Given the description of an element on the screen output the (x, y) to click on. 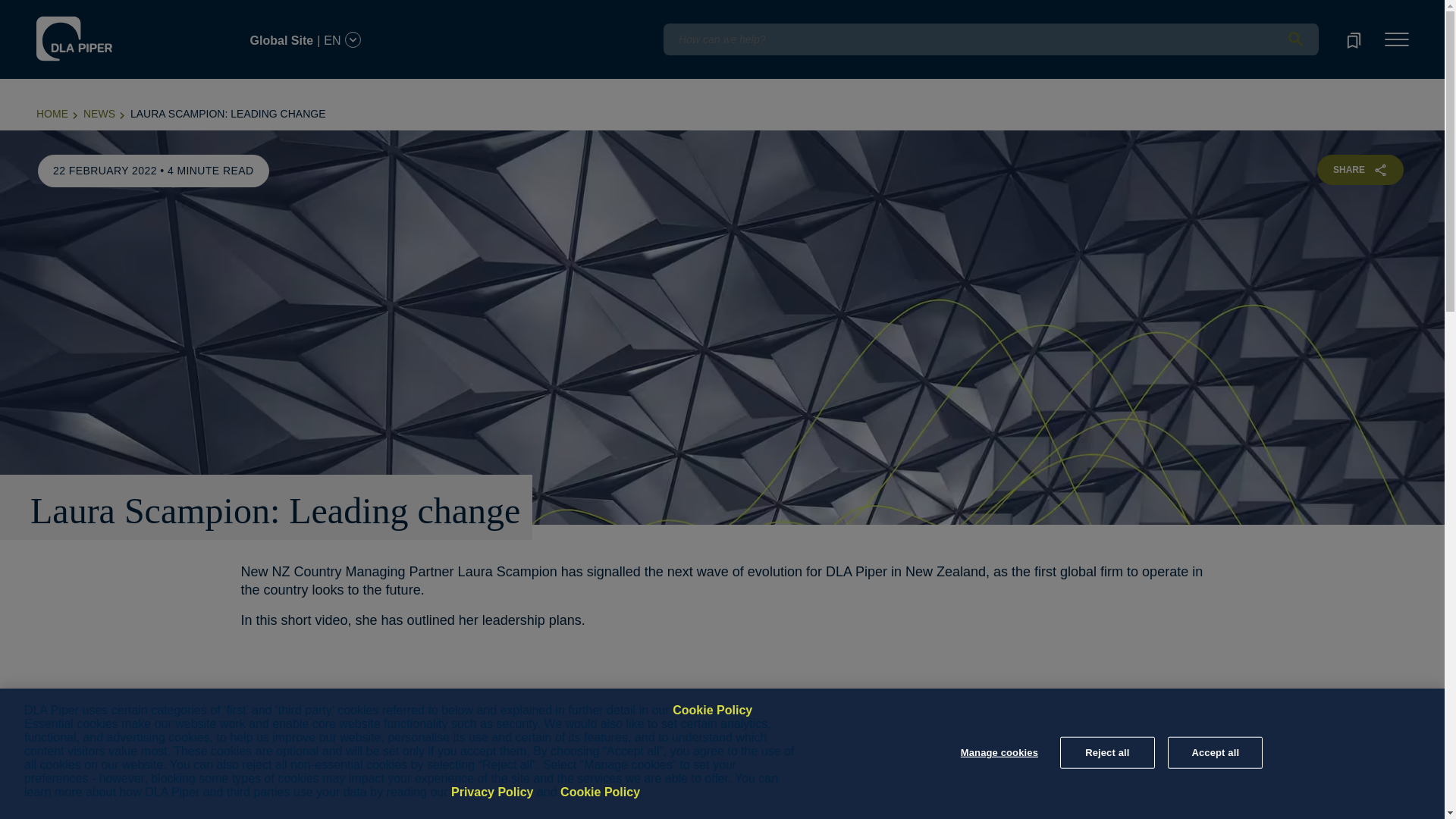
Insert a query. Press enter to send (990, 39)
English (116, 31)
Deutsch (157, 11)
English (115, 11)
